Given the description of an element on the screen output the (x, y) to click on. 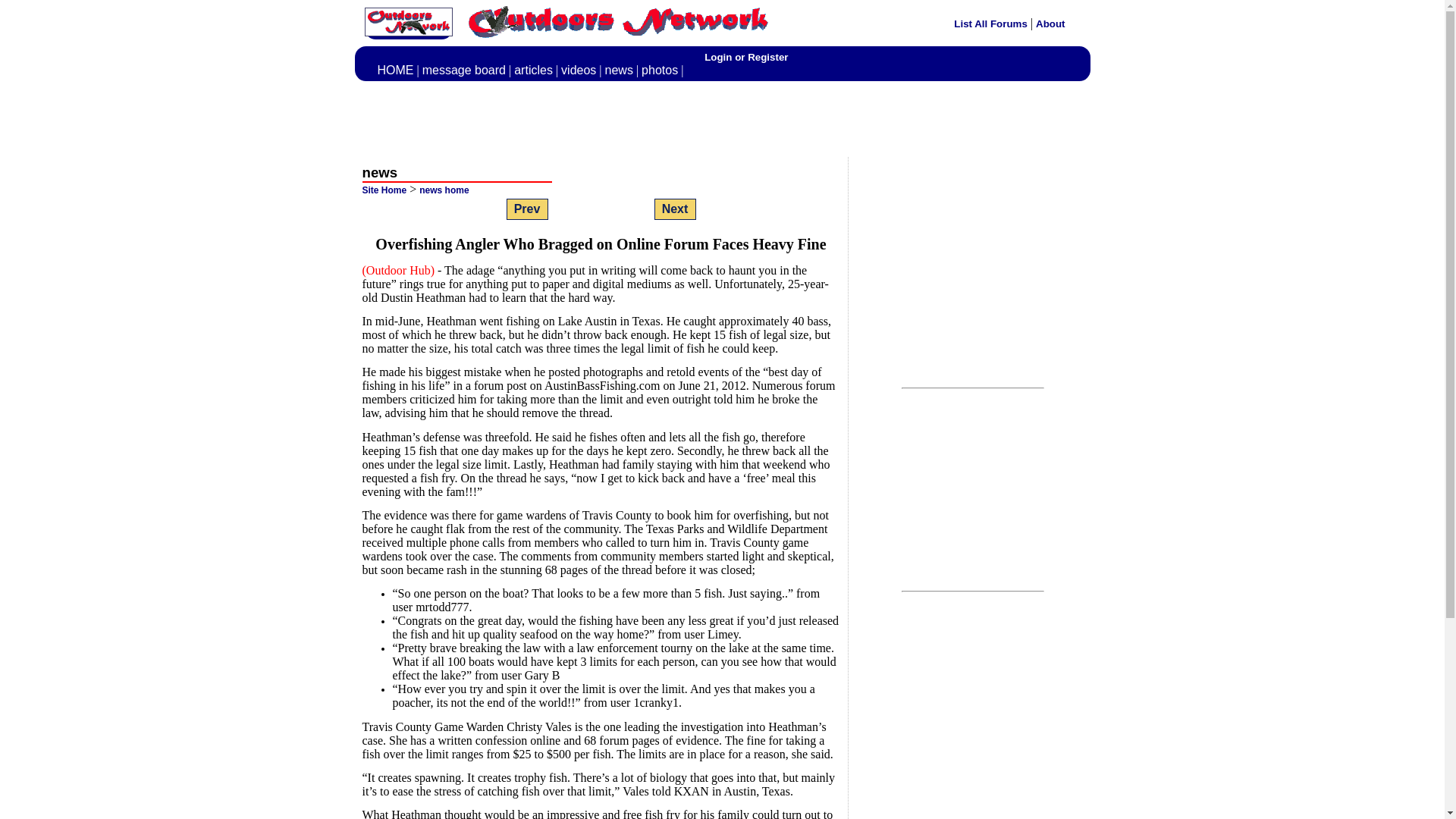
Site Home (384, 190)
news  (619, 69)
About (1050, 23)
Login or Register (745, 57)
message board Outdoors Network (463, 69)
photos  (660, 69)
videos (577, 69)
photos (660, 69)
news home (443, 190)
news (619, 69)
